Given the description of an element on the screen output the (x, y) to click on. 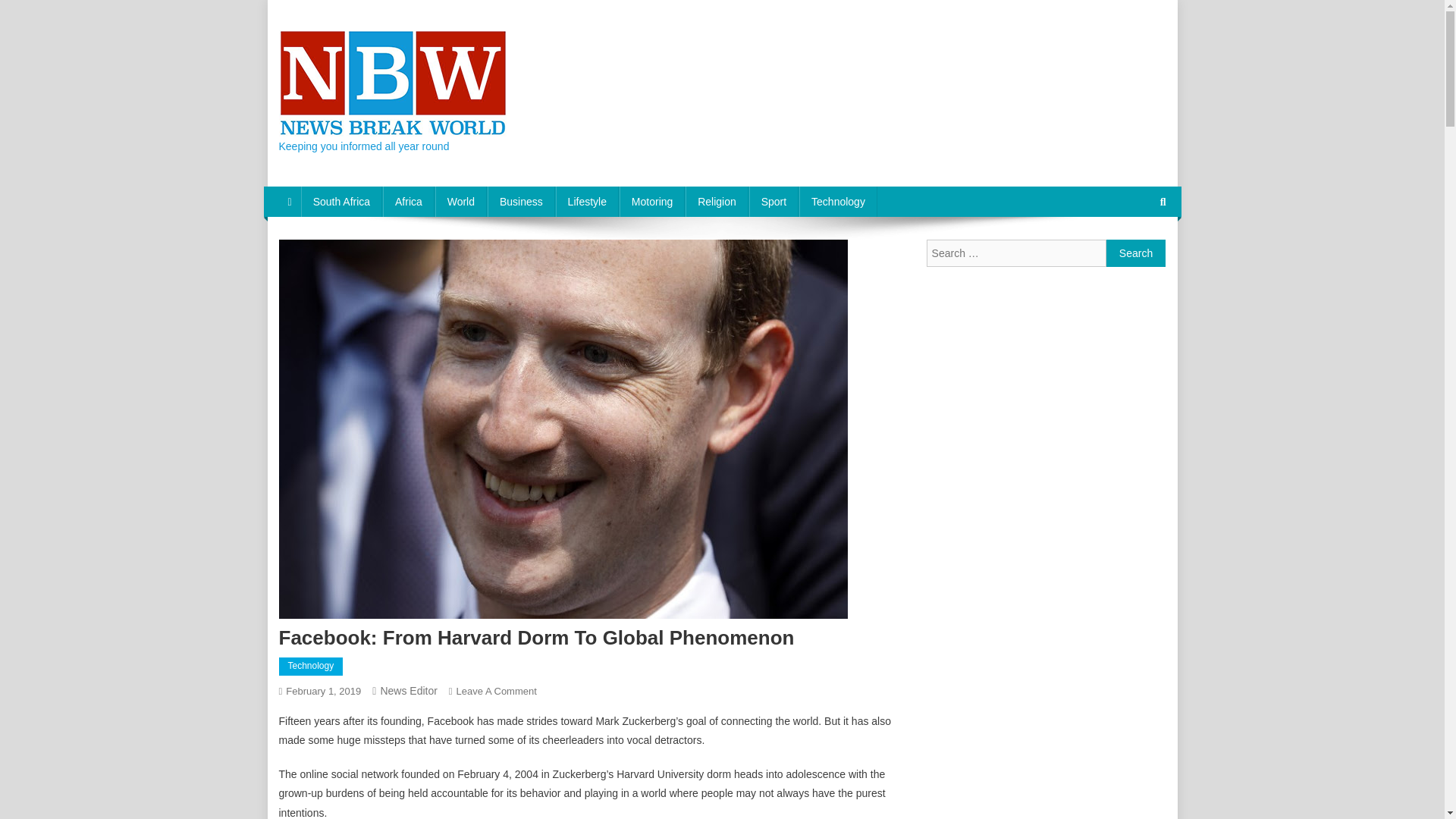
Religion (716, 201)
Business (520, 201)
Search (1136, 252)
Technology (838, 201)
Lifestyle (587, 201)
February 1, 2019 (323, 690)
Search (1136, 252)
Search (1133, 252)
Africa (407, 201)
News Editor (408, 690)
